Given the description of an element on the screen output the (x, y) to click on. 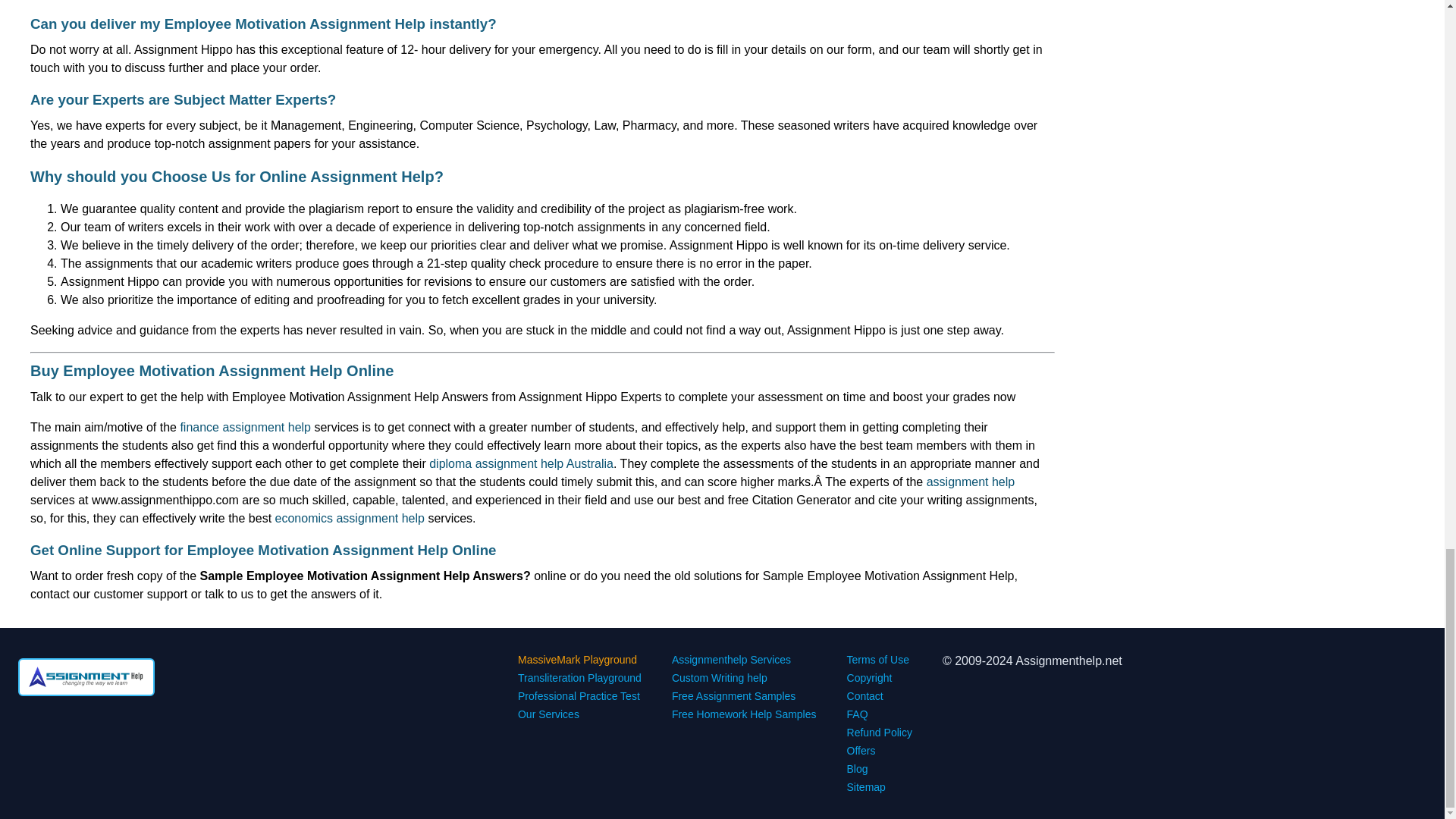
diploma assignment help Australia (520, 463)
Blog (857, 768)
Contact (865, 695)
Sitemap (866, 787)
Copyright (869, 677)
Free Homework Help Samples (743, 714)
finance assignment help (245, 427)
FAQ (857, 714)
Professional Practice Test (579, 695)
Free Assignment Samples (732, 695)
Terms of Use (877, 659)
economics assignment help (350, 517)
finance assignment help (245, 427)
Transliteration Playground (580, 677)
assignment help (970, 481)
